Given the description of an element on the screen output the (x, y) to click on. 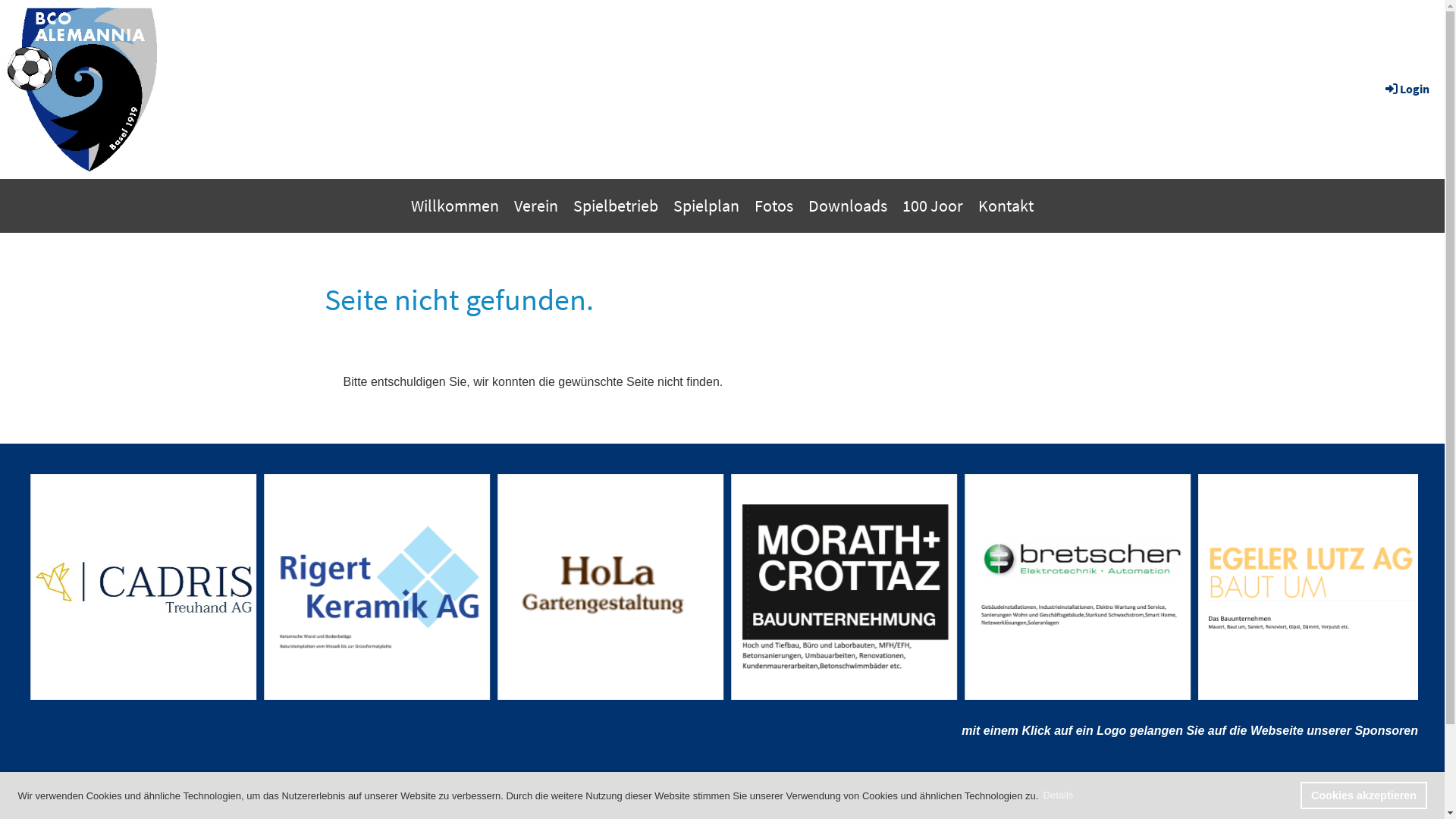
Cookies akzeptieren Element type: text (1363, 795)
Spielbetrieb Element type: text (615, 205)
Downloads Element type: text (847, 205)
Login Element type: text (1406, 88)
Kontakt Element type: text (1005, 205)
Spielplan Element type: text (705, 205)
Verein Element type: text (535, 205)
Fotos Element type: text (773, 205)
100 Joor Element type: text (932, 205)
Impressum Element type: text (780, 796)
Details Element type: text (1058, 795)
Willkommen Element type: text (454, 205)
